Given the description of an element on the screen output the (x, y) to click on. 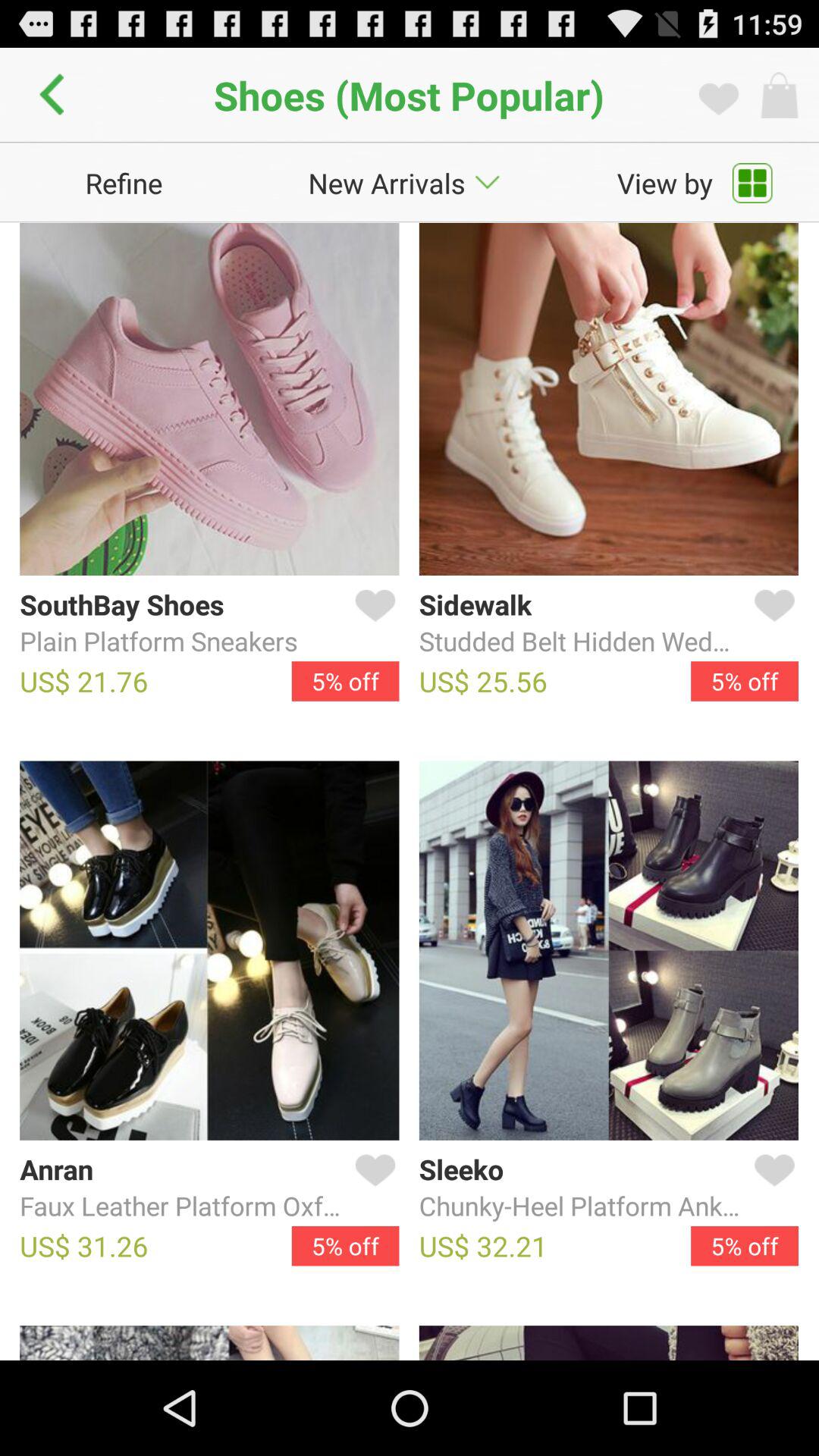
go back (56, 94)
